Given the description of an element on the screen output the (x, y) to click on. 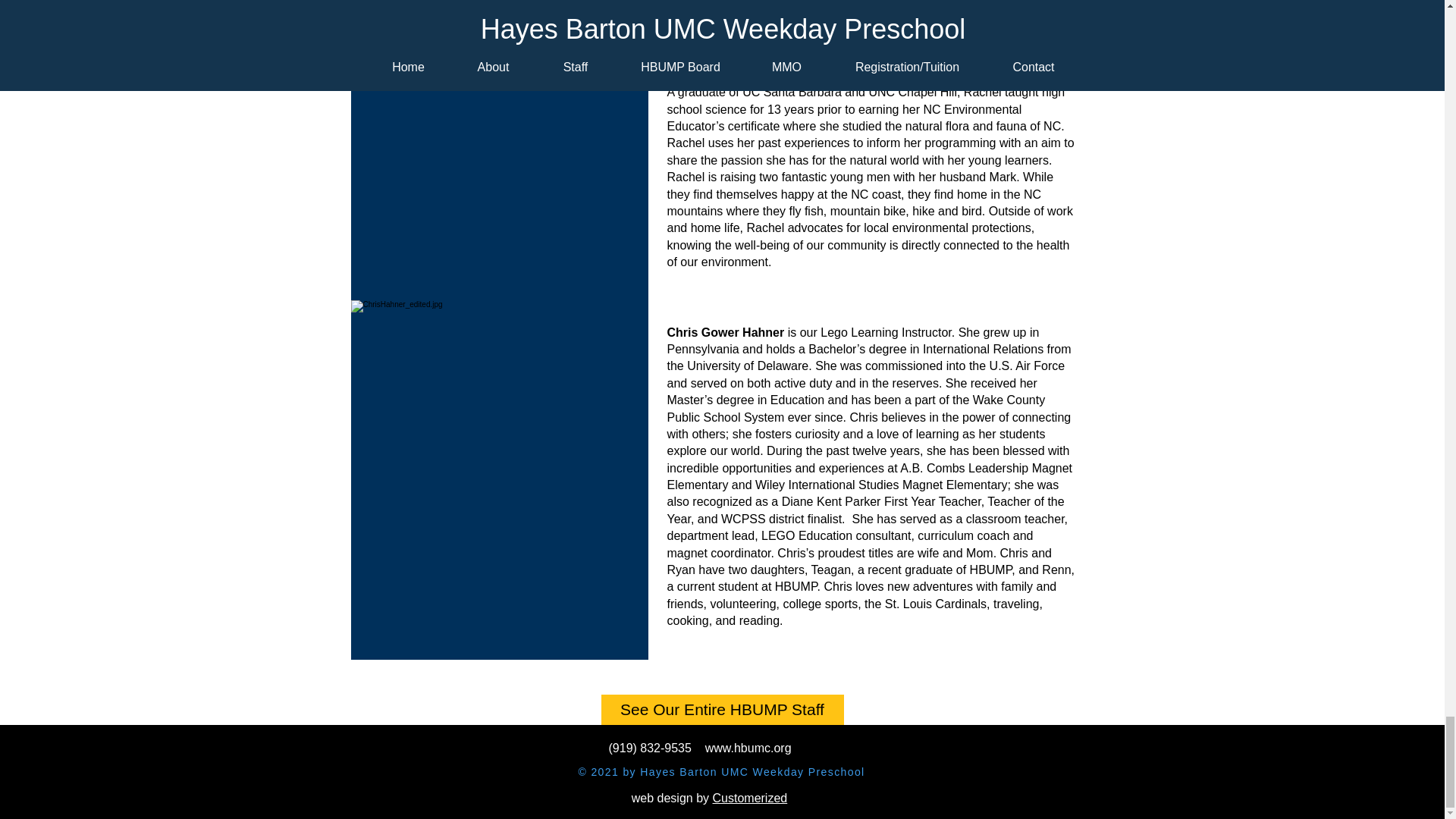
Customerized (750, 797)
See Our Entire HBUMP Staff (721, 709)
www.hbumc.org (748, 748)
